Given the description of an element on the screen output the (x, y) to click on. 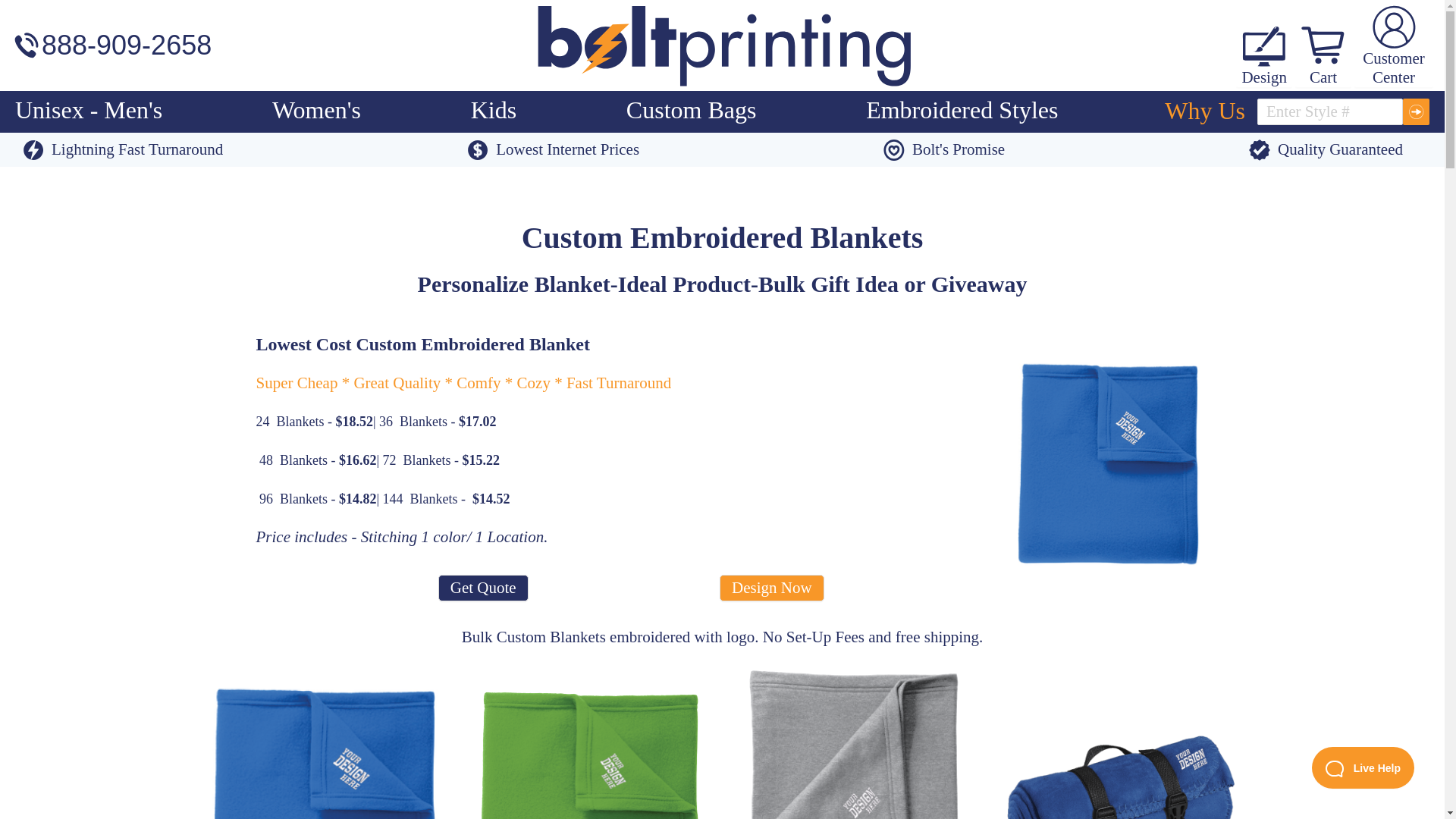
Customer Center (1393, 45)
Design Now (771, 587)
Kids (493, 109)
Get Quote (483, 587)
Embroidered Styles (962, 109)
Quality Guaranteed (1326, 149)
Bolt's Promise (943, 149)
Custom Bags (691, 109)
Why Us (1205, 112)
Design (1265, 78)
Lowest Internet Prices (553, 149)
888-909-2658 (126, 45)
Live Help (1362, 767)
Lightning Fast Turnaround (122, 149)
Women's (316, 109)
